Given the description of an element on the screen output the (x, y) to click on. 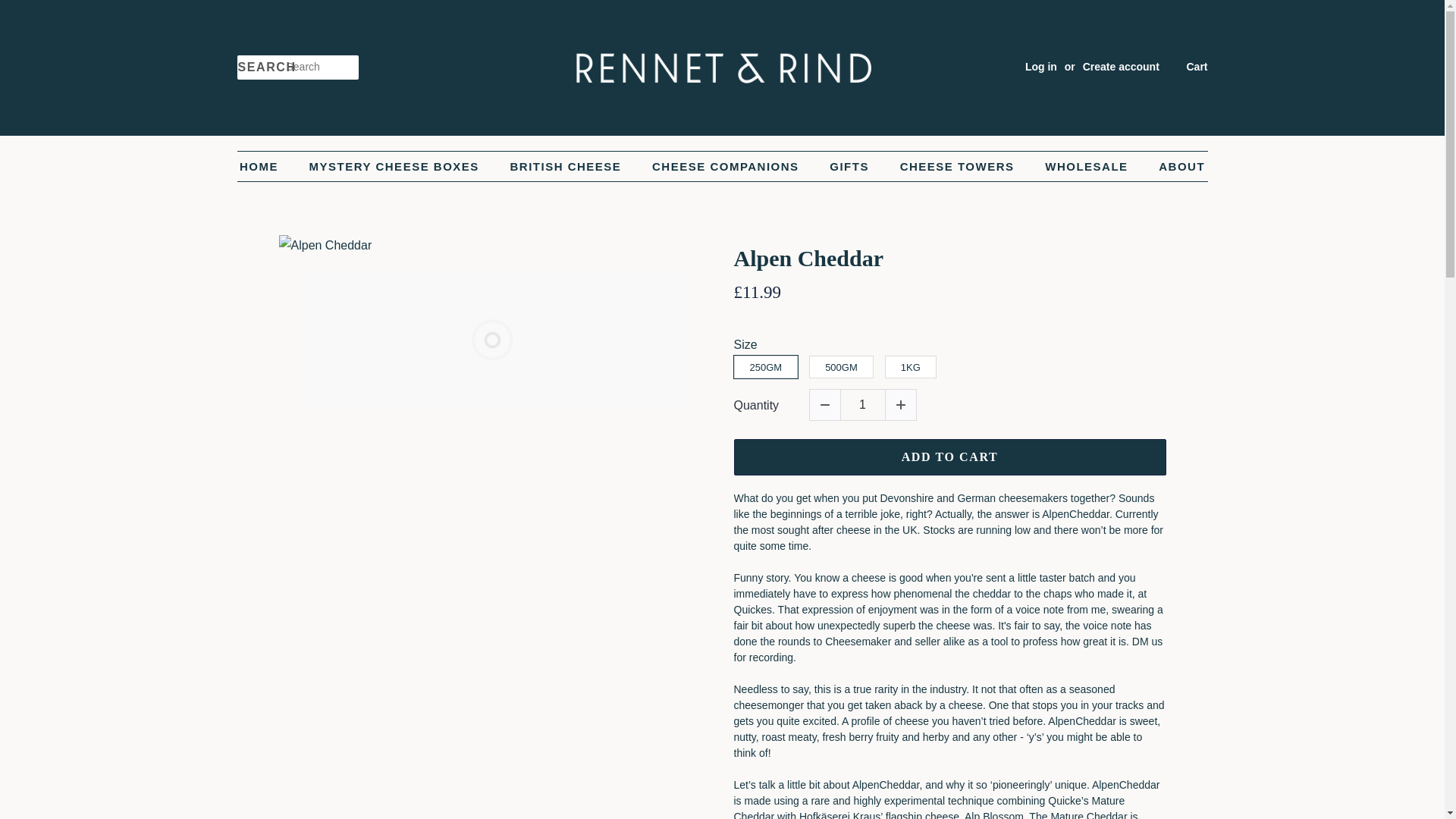
SEARCH (260, 67)
Create account (1120, 66)
Log in (1041, 66)
Cart (1196, 67)
1 (862, 404)
